Given the description of an element on the screen output the (x, y) to click on. 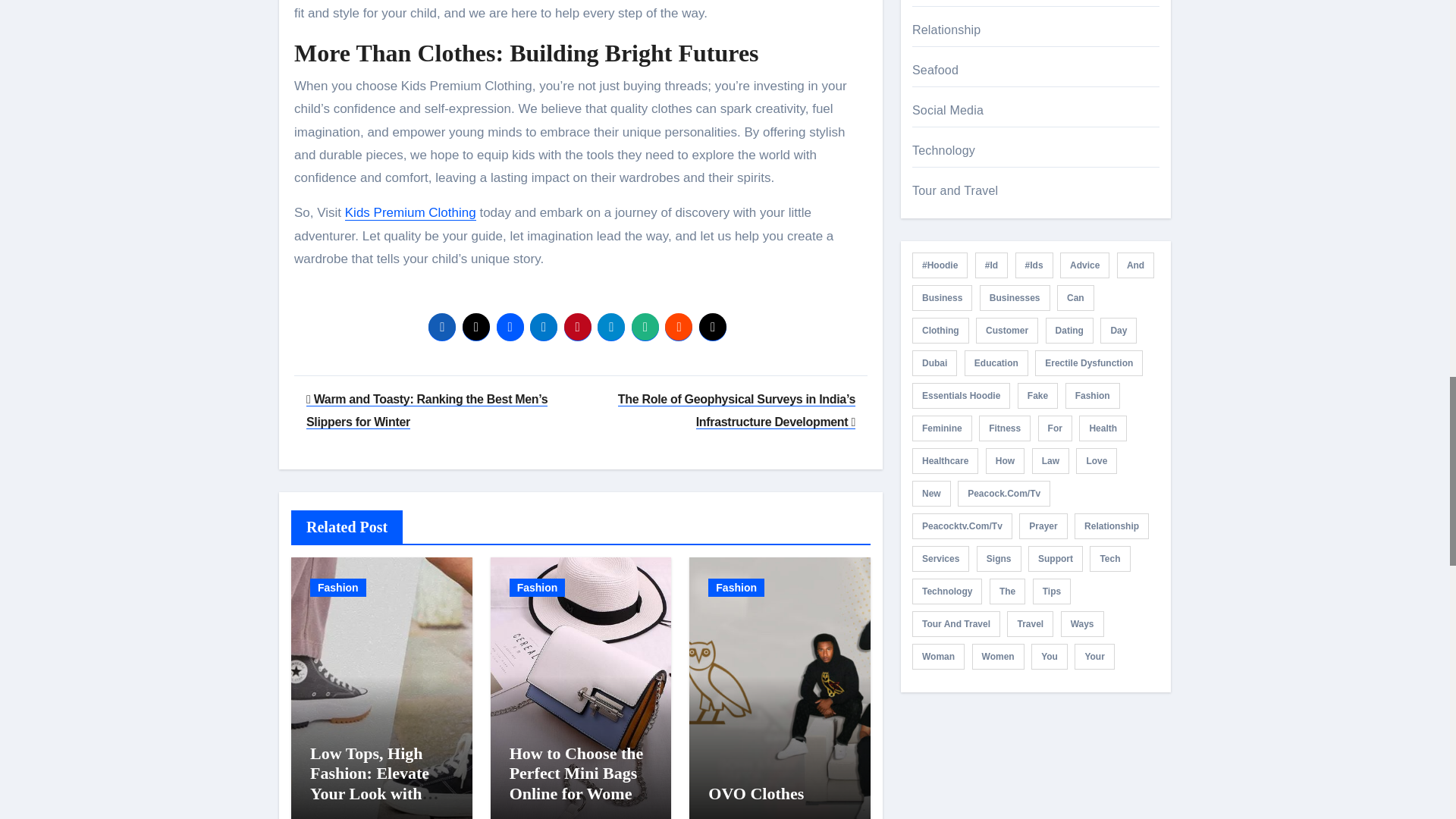
Permalink to: OVO Clothes (755, 793)
